Given the description of an element on the screen output the (x, y) to click on. 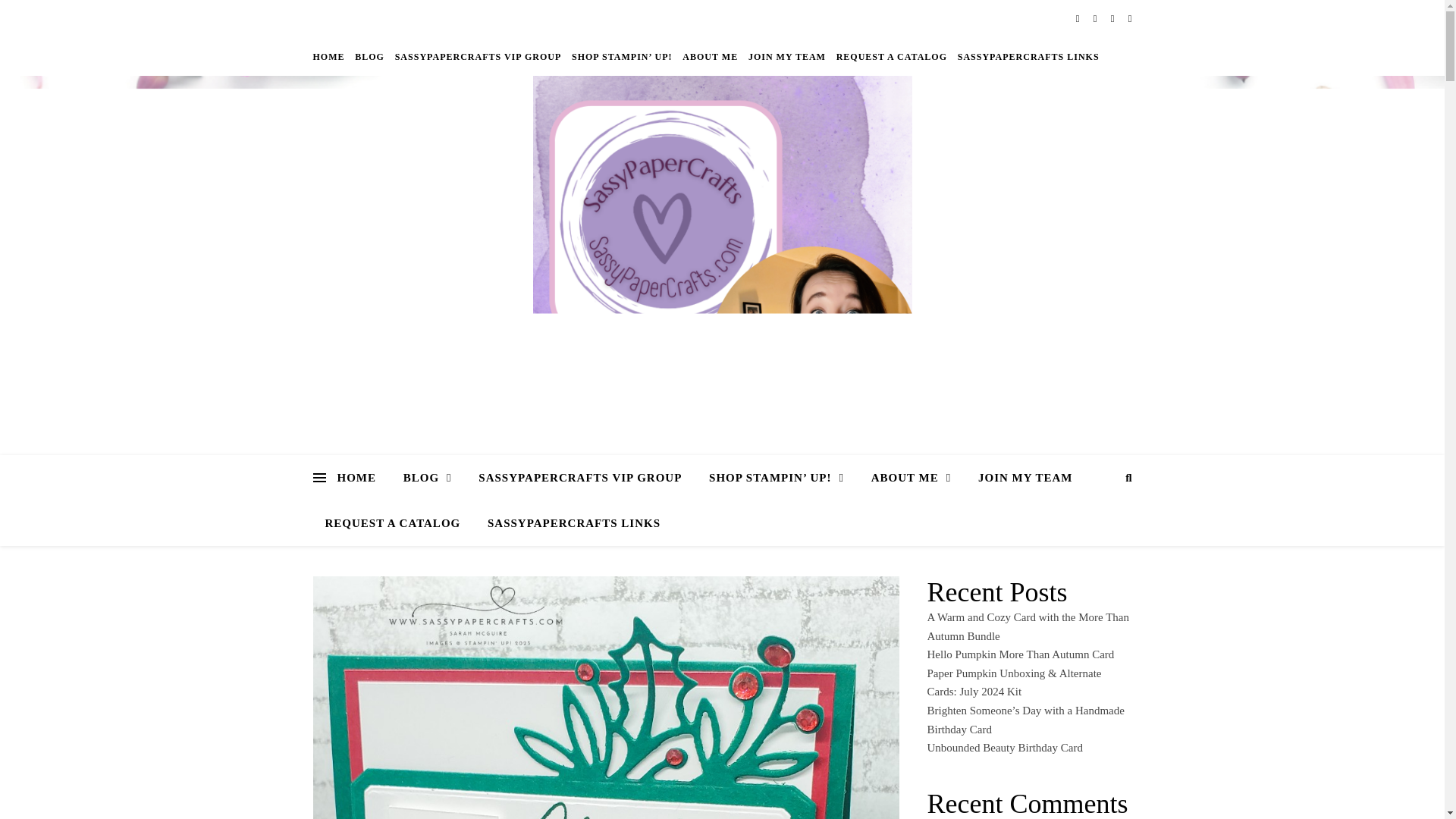
BLOG (427, 477)
JOIN MY TEAM (1025, 477)
REQUEST A CATALOG (891, 56)
JOIN MY TEAM (786, 56)
BLOG (369, 56)
HOME (330, 56)
ABOUT ME (709, 56)
HOME (362, 477)
SASSYPAPERCRAFTS LINKS (1026, 56)
